Given the description of an element on the screen output the (x, y) to click on. 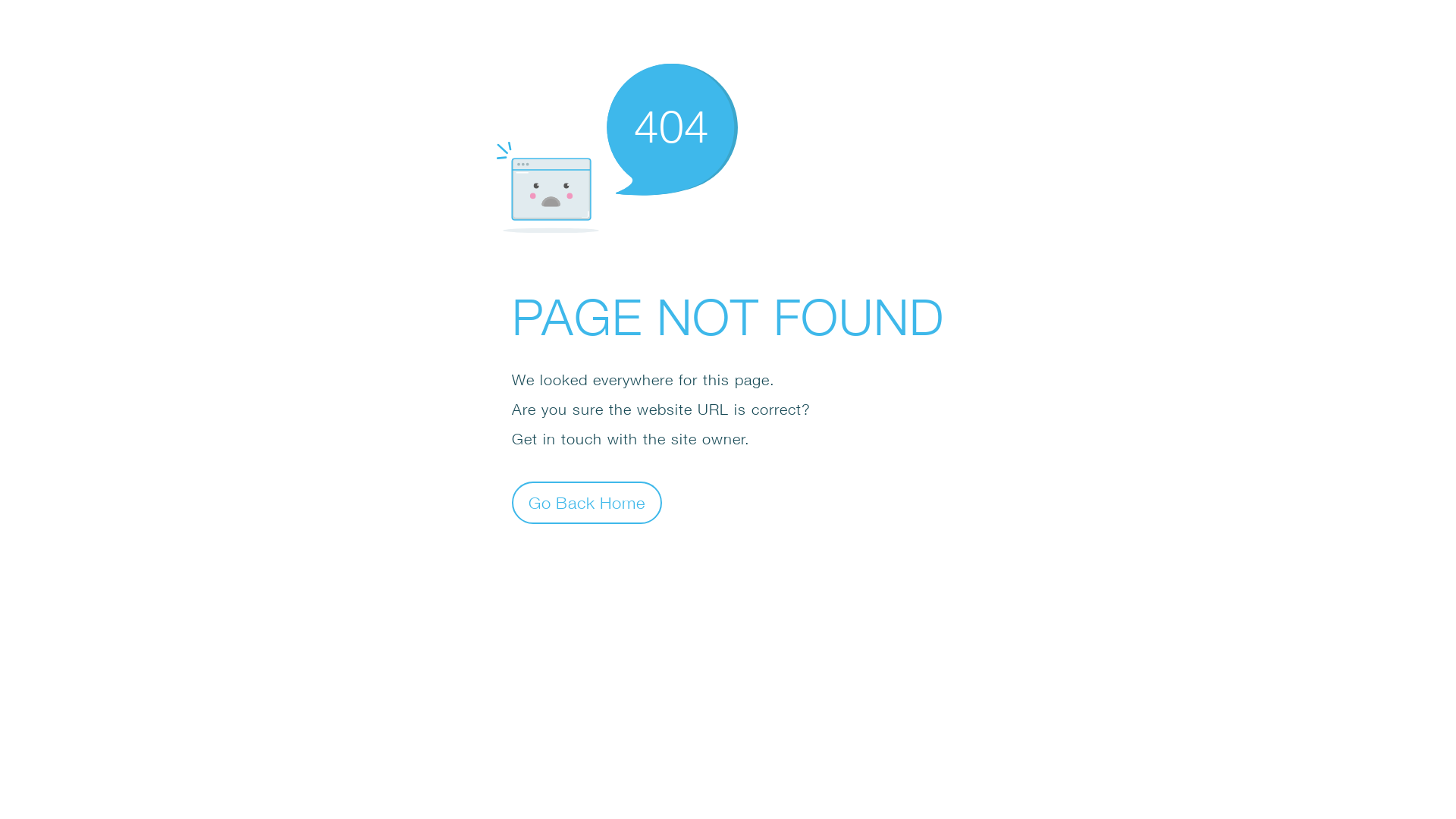
Go Back Home Element type: text (586, 502)
